Given the description of an element on the screen output the (x, y) to click on. 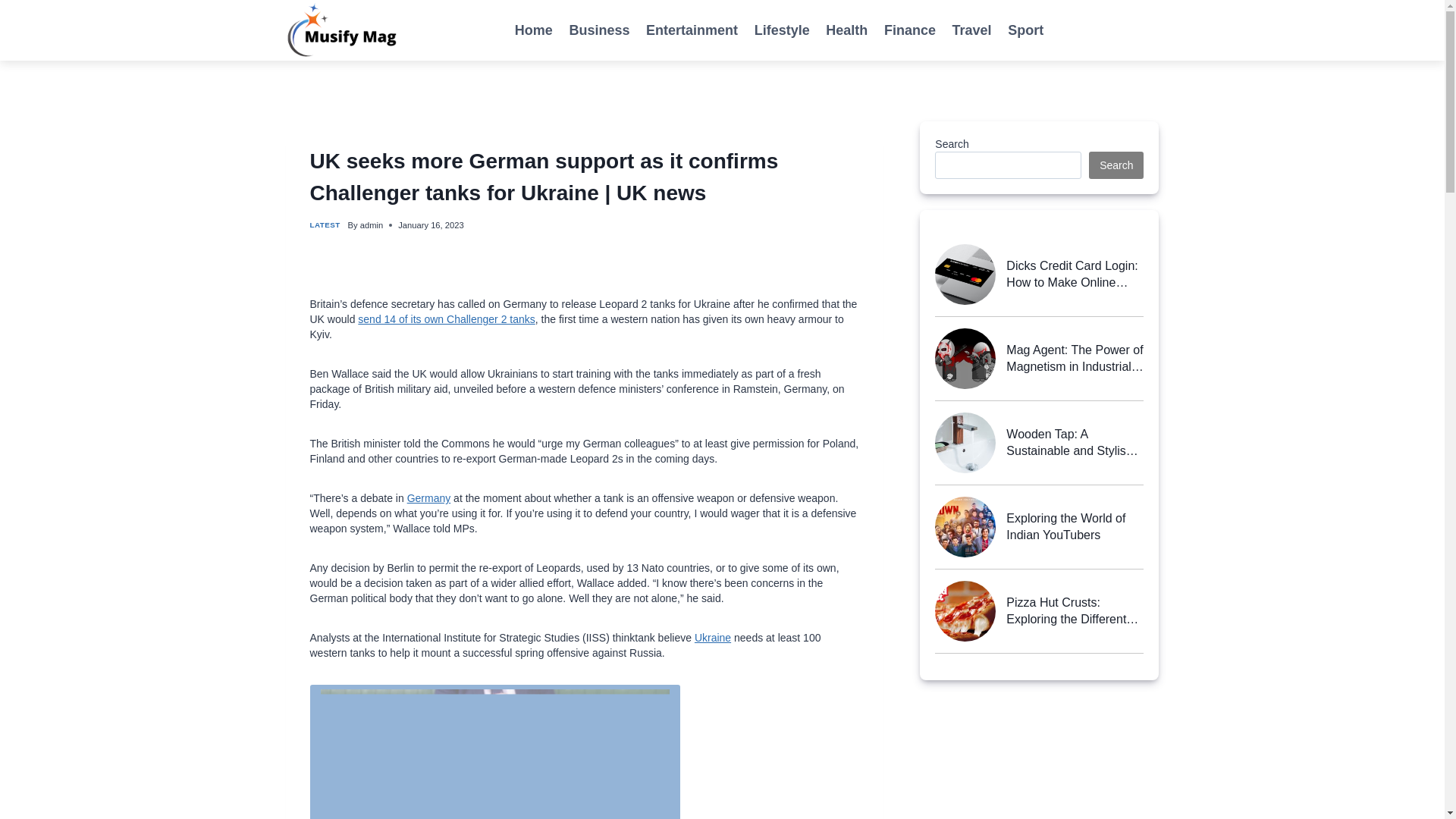
Home (533, 29)
Health (847, 29)
send 14 of its own Challenger 2 tanks (446, 318)
Finance (909, 29)
admin (370, 225)
Sport (1024, 29)
Germany (429, 498)
LATEST (323, 224)
Travel (971, 29)
Ukraine (712, 637)
Entertainment (691, 29)
Lifestyle (781, 29)
Business (599, 29)
